Given the description of an element on the screen output the (x, y) to click on. 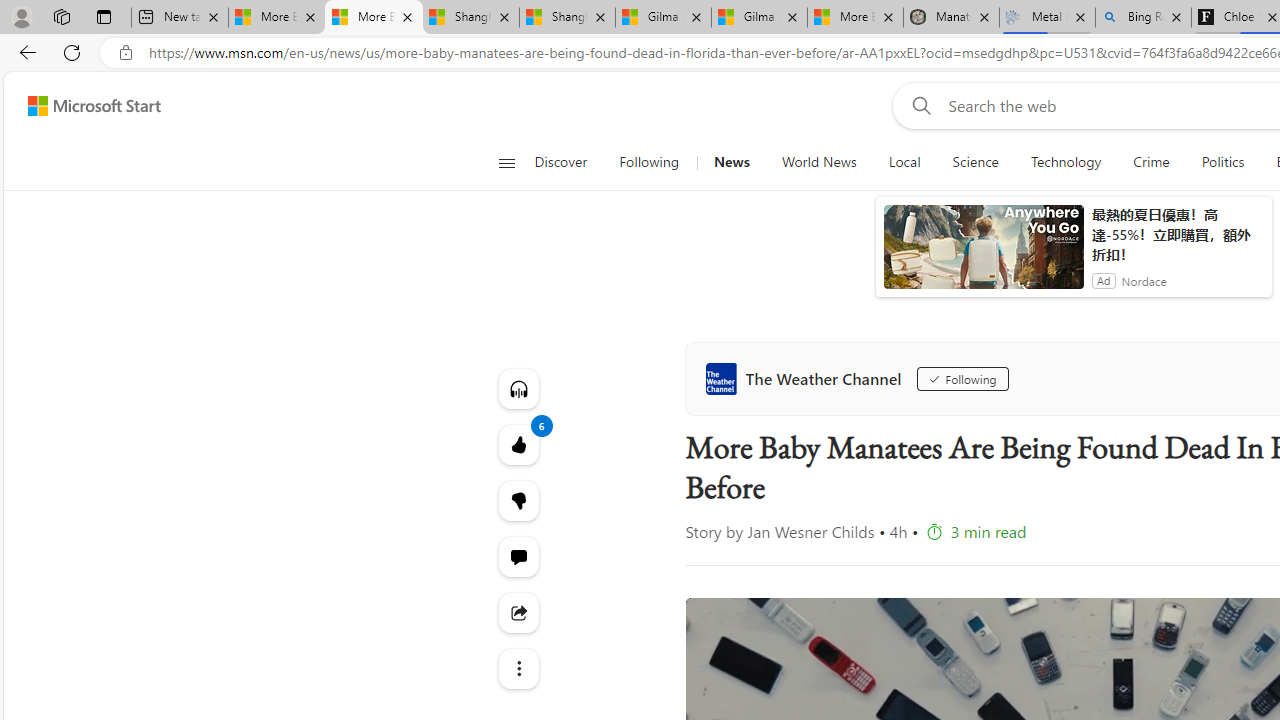
Crime (1150, 162)
The Weather Channel (807, 378)
anim-content (983, 255)
Listen to this article (517, 388)
Following (648, 162)
Politics (1222, 162)
6 Like (517, 444)
World News (818, 162)
Discover (560, 162)
Science (975, 162)
